Given the description of an element on the screen output the (x, y) to click on. 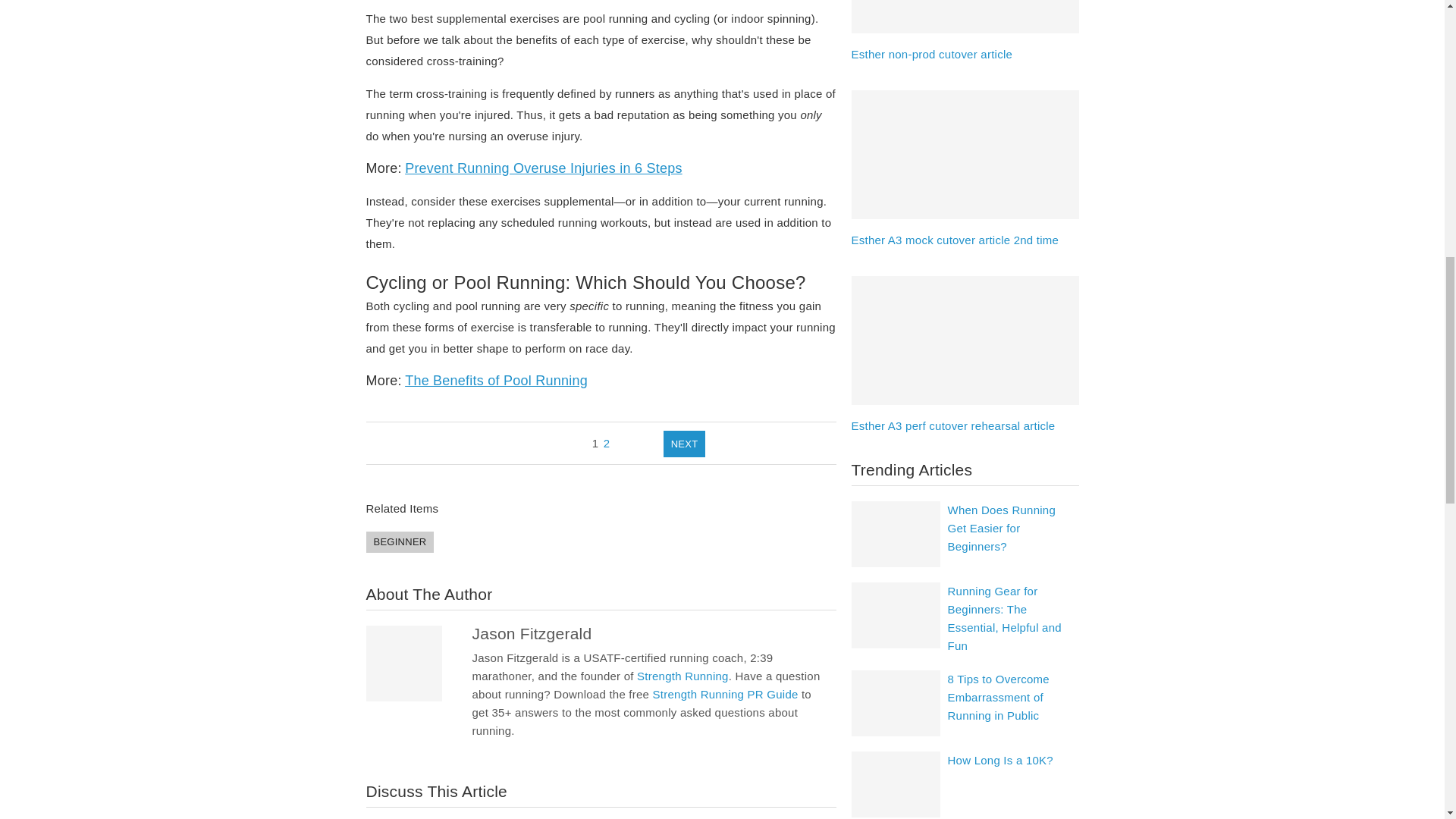
Strength Running PR Guide (724, 694)
The Benefits of Pool Running (496, 380)
Prevent Running Overuse Injuries in 6 Steps (543, 168)
